Given the description of an element on the screen output the (x, y) to click on. 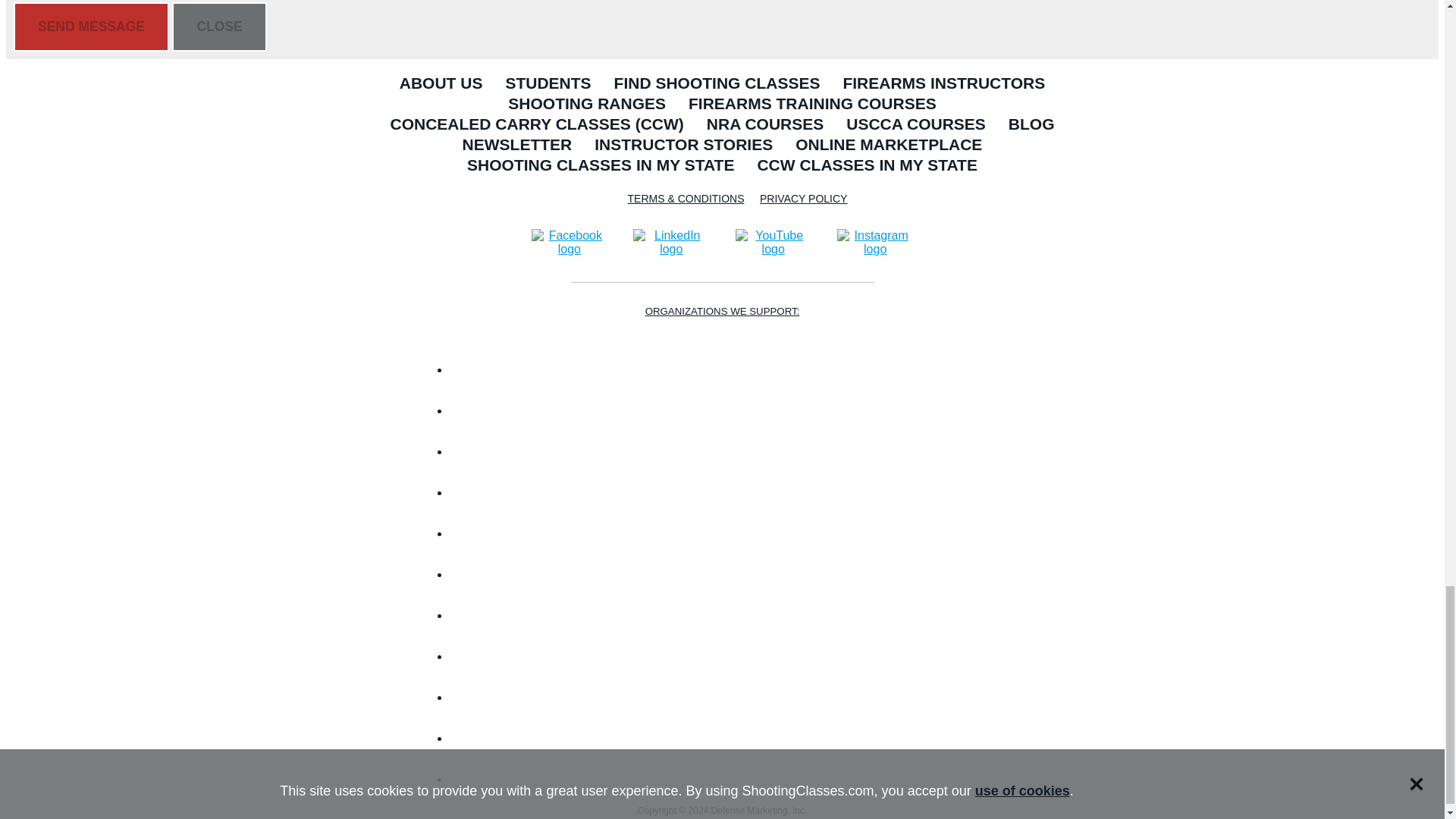
FIND SHOOTING CLASSES (716, 84)
NRA COURSES (764, 125)
STUDENTS (547, 84)
ABOUT US (441, 84)
SHOOTING CLASSES IN MY STATE (600, 166)
USCCA COURSES (915, 125)
SHOOTING RANGES (586, 105)
SEND MESSAGE (90, 26)
INSTRUCTOR STORIES (683, 145)
CLOSE (218, 26)
